Given the description of an element on the screen output the (x, y) to click on. 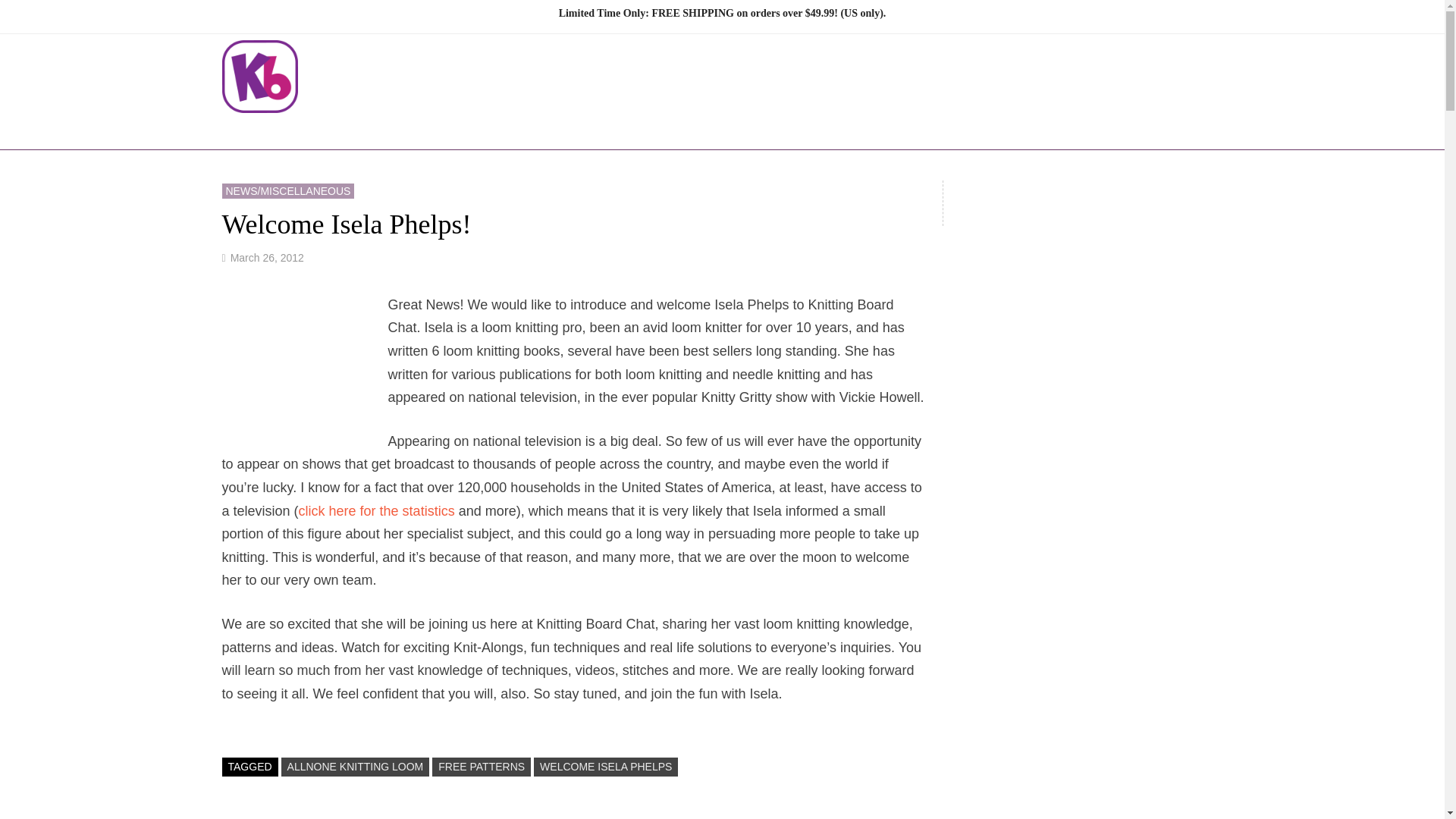
BLOG (896, 130)
PATTERNS (727, 130)
LEARN (822, 130)
SHOP (637, 130)
FLEXEE LOOMS (529, 130)
FAQS (958, 130)
iselaphoto (304, 368)
